Given the description of an element on the screen output the (x, y) to click on. 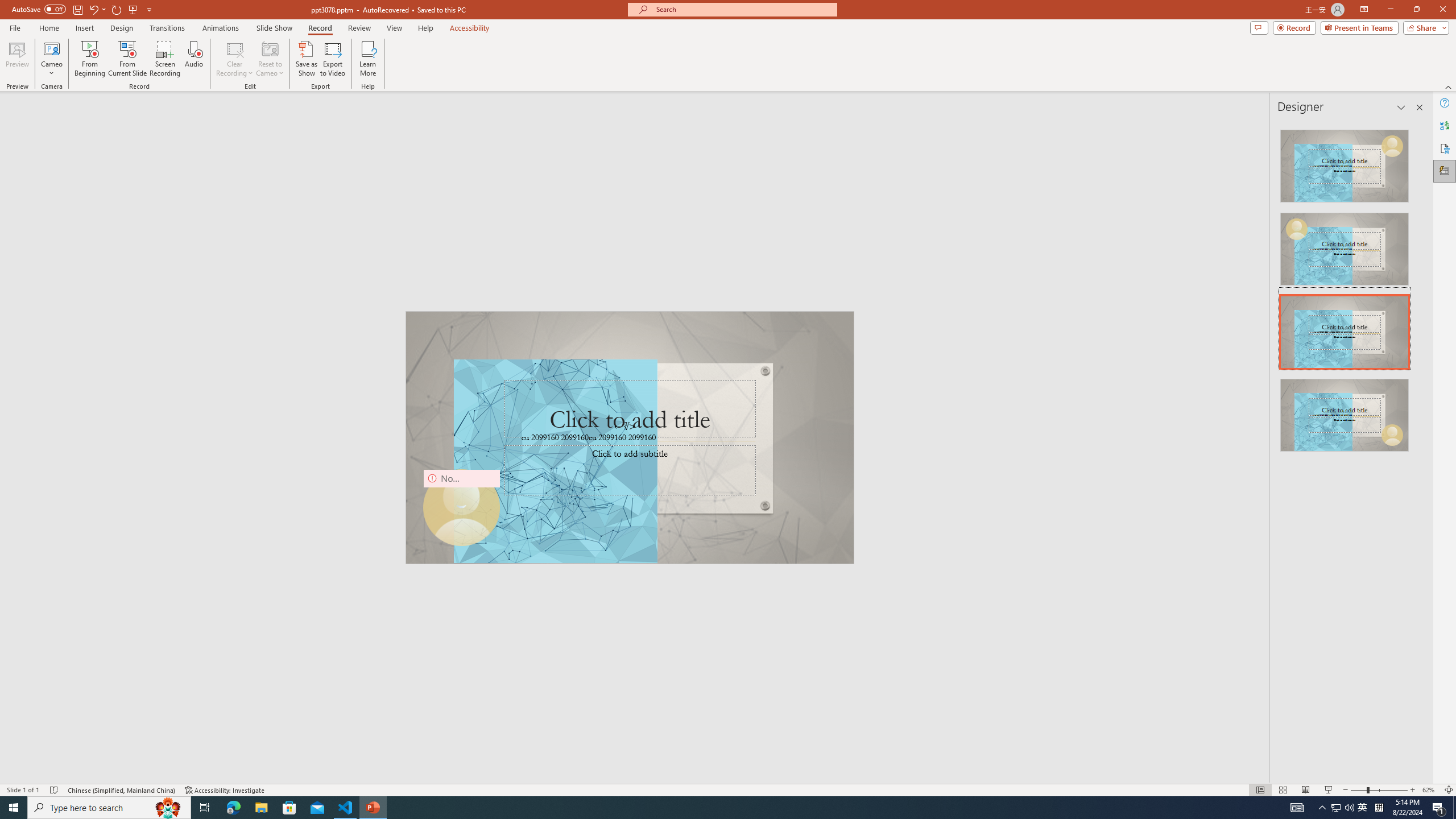
Camera 9, No camera detected. (812, 522)
Save as Show (306, 58)
Zoom 62% (1430, 790)
Clear Recording (234, 58)
